Given the description of an element on the screen output the (x, y) to click on. 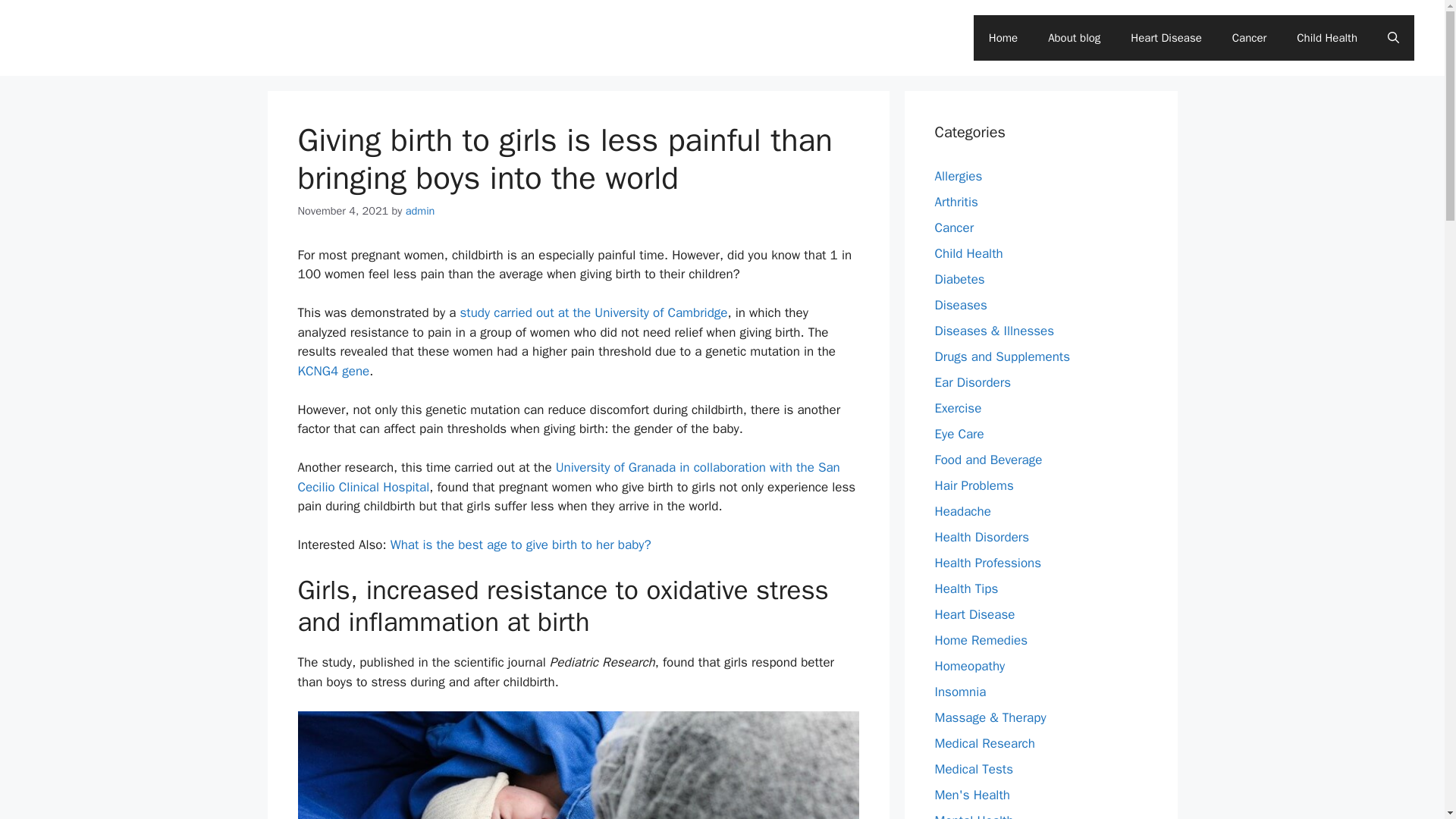
About blog (1073, 37)
study carried out at the University of Cambridge (593, 312)
Drugs and Supplements (1002, 356)
Allergies (957, 176)
Cancer (954, 227)
Eye Care (959, 433)
Diseases (960, 304)
KCNG4 gene (333, 371)
Ear Disorders (972, 382)
What is the best age to give birth to her baby? (520, 544)
Child Health (968, 253)
Diabetes (959, 279)
Heart Disease (1165, 37)
Food and Beverage (988, 459)
